Given the description of an element on the screen output the (x, y) to click on. 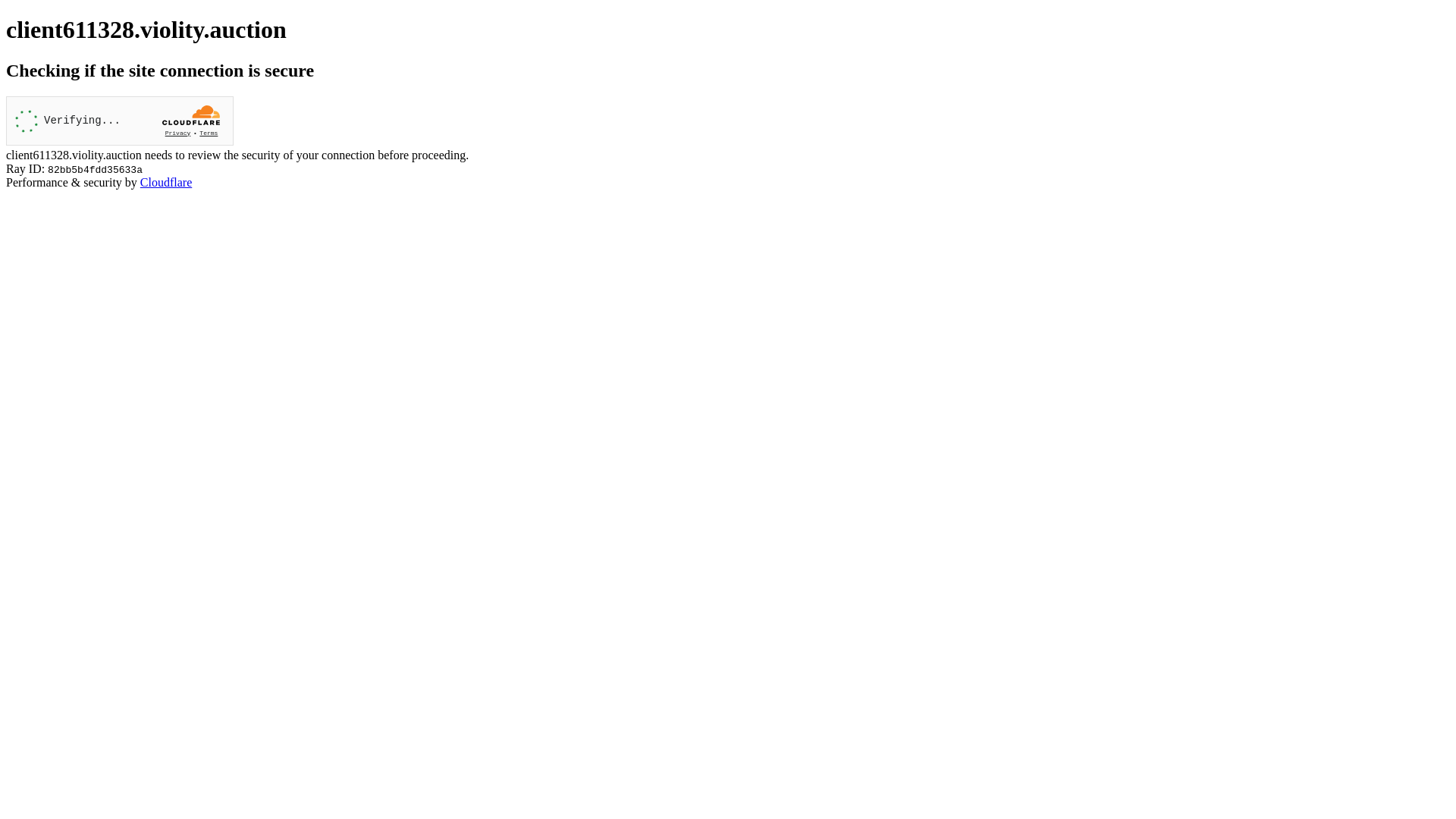
Widget containing a Cloudflare security challenge Element type: hover (119, 120)
Cloudflare Element type: text (165, 181)
